Given the description of an element on the screen output the (x, y) to click on. 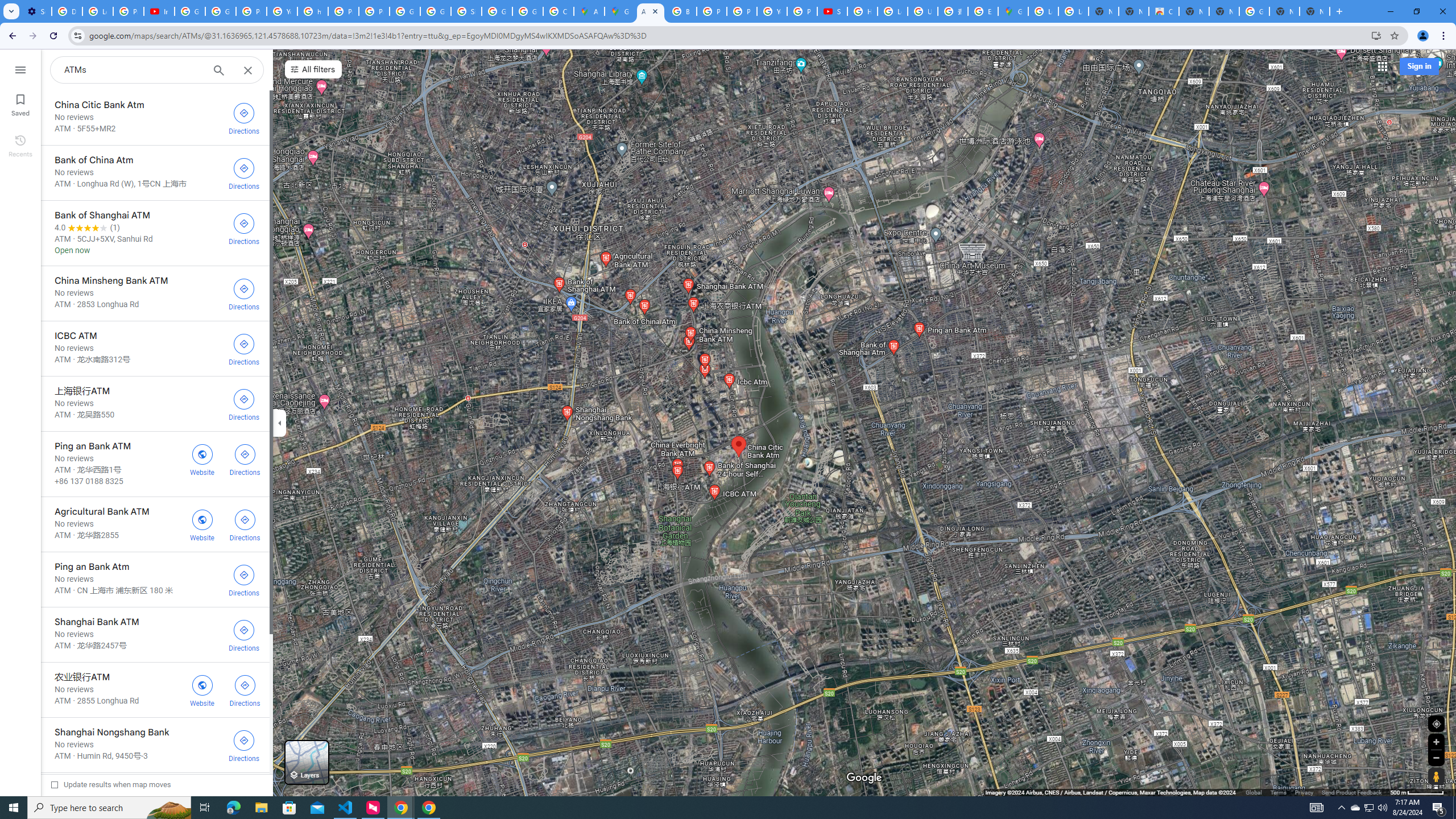
Get directions to ICBC ATM (243, 348)
Global (1253, 792)
500 m (1417, 792)
China Citic Bank Atm (154, 117)
Collapse side panel (279, 422)
Saved (20, 104)
Agricultural Bank ATM (154, 524)
4.0 stars 1 Reviews (87, 227)
Blogger Policies and Guidelines - Transparency Center (681, 11)
Explore new street-level details - Google Maps Help (982, 11)
